Given the description of an element on the screen output the (x, y) to click on. 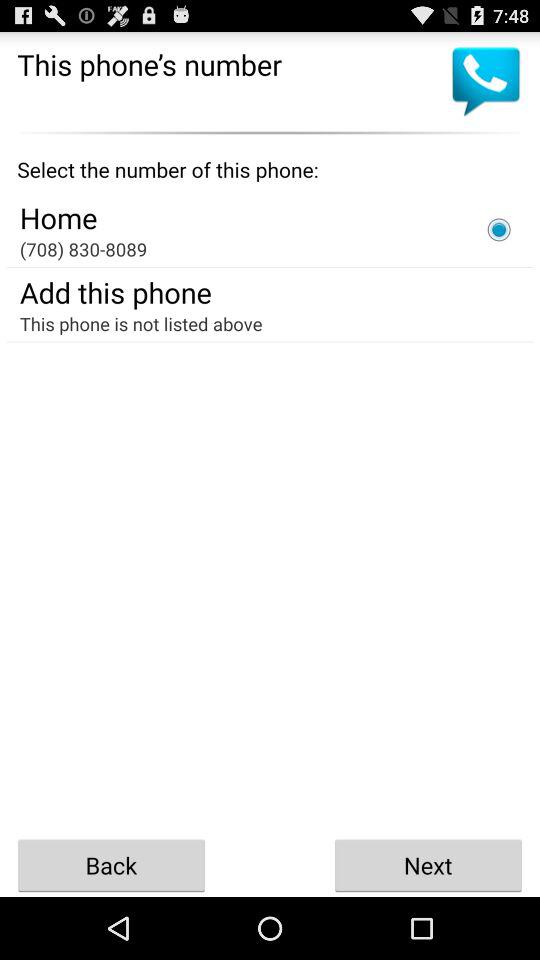
phone number selection (499, 229)
